Given the description of an element on the screen output the (x, y) to click on. 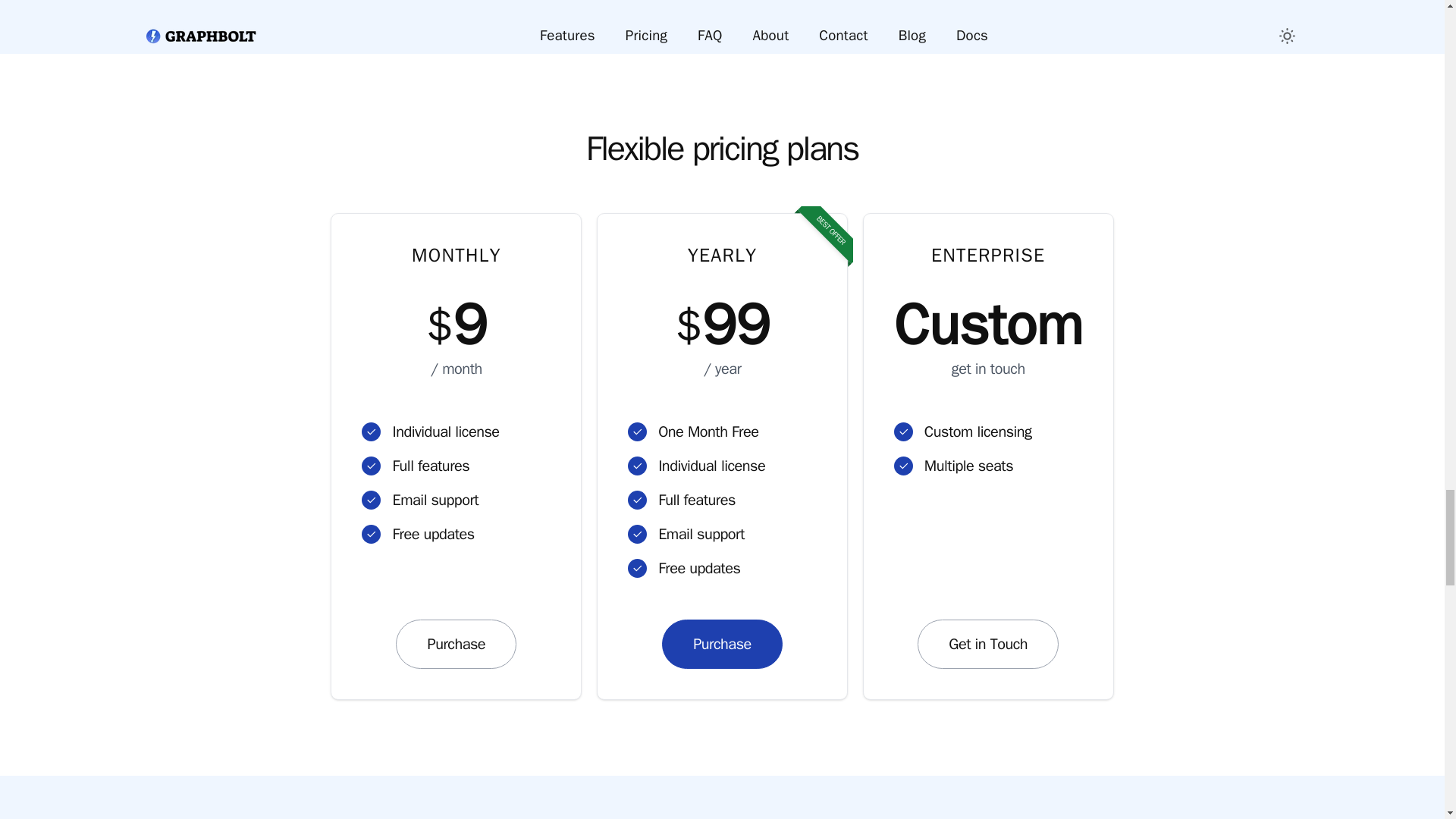
Get in Touch (987, 644)
Purchase (722, 644)
Purchase (456, 644)
